Given the description of an element on the screen output the (x, y) to click on. 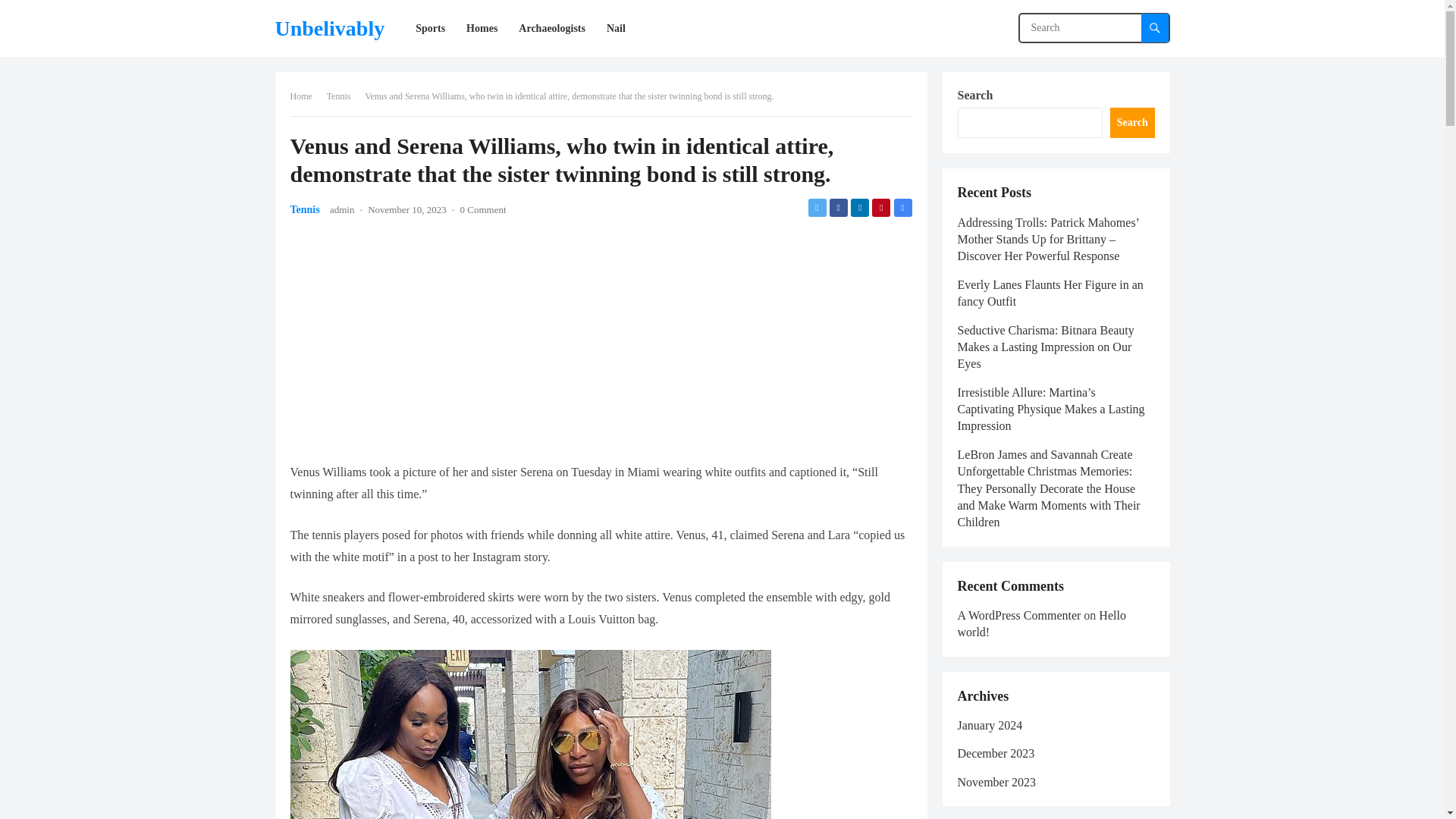
0 Comment (483, 209)
Home (305, 95)
Tennis (303, 209)
Posts by admin (342, 209)
Tennis (343, 95)
admin (342, 209)
Archaeologists (551, 28)
Unbelivably (329, 28)
